Given the description of an element on the screen output the (x, y) to click on. 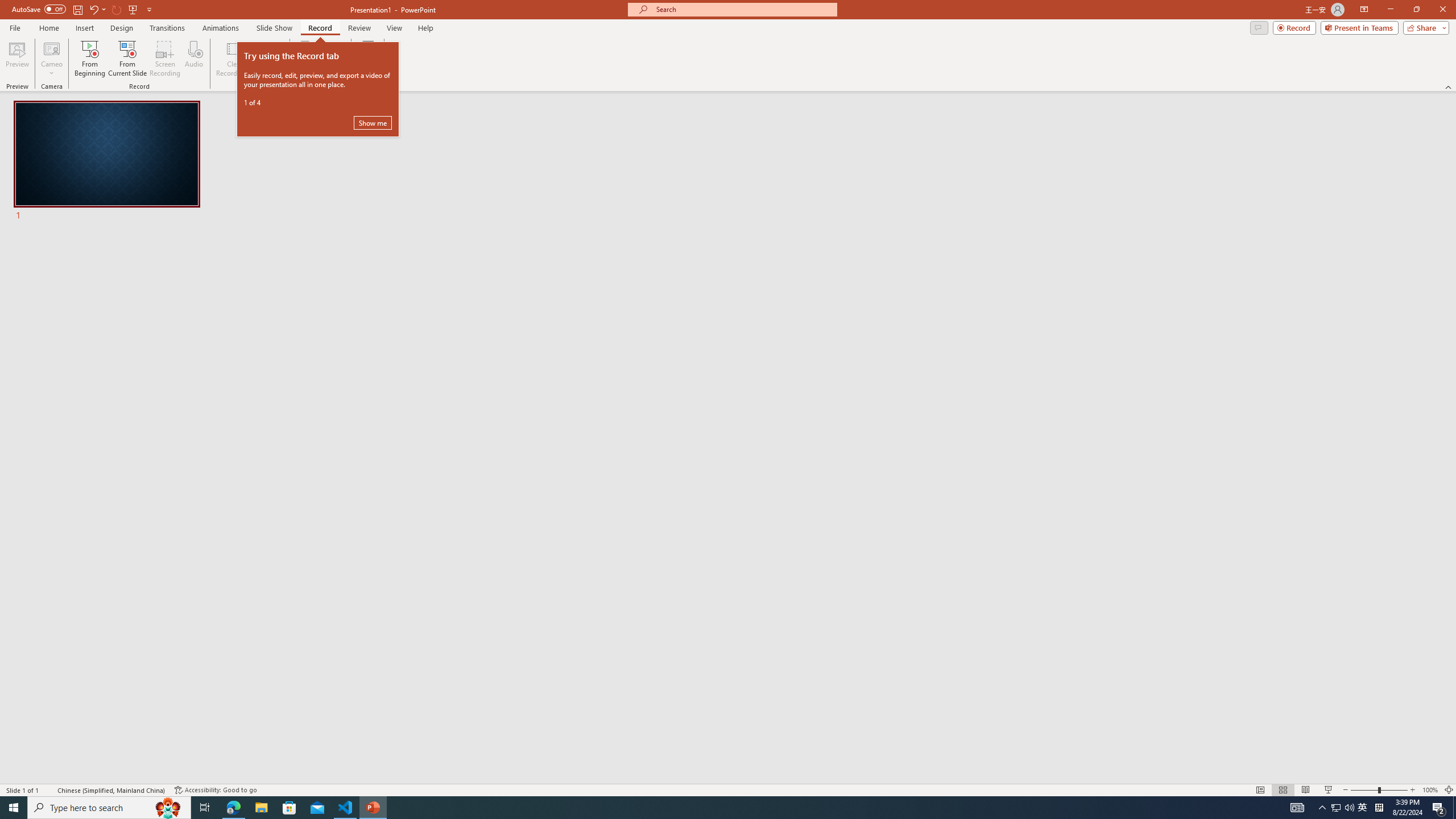
From Current Slide... (127, 58)
Learn More (368, 58)
Show me (372, 122)
From Beginning... (89, 58)
